Given the description of an element on the screen output the (x, y) to click on. 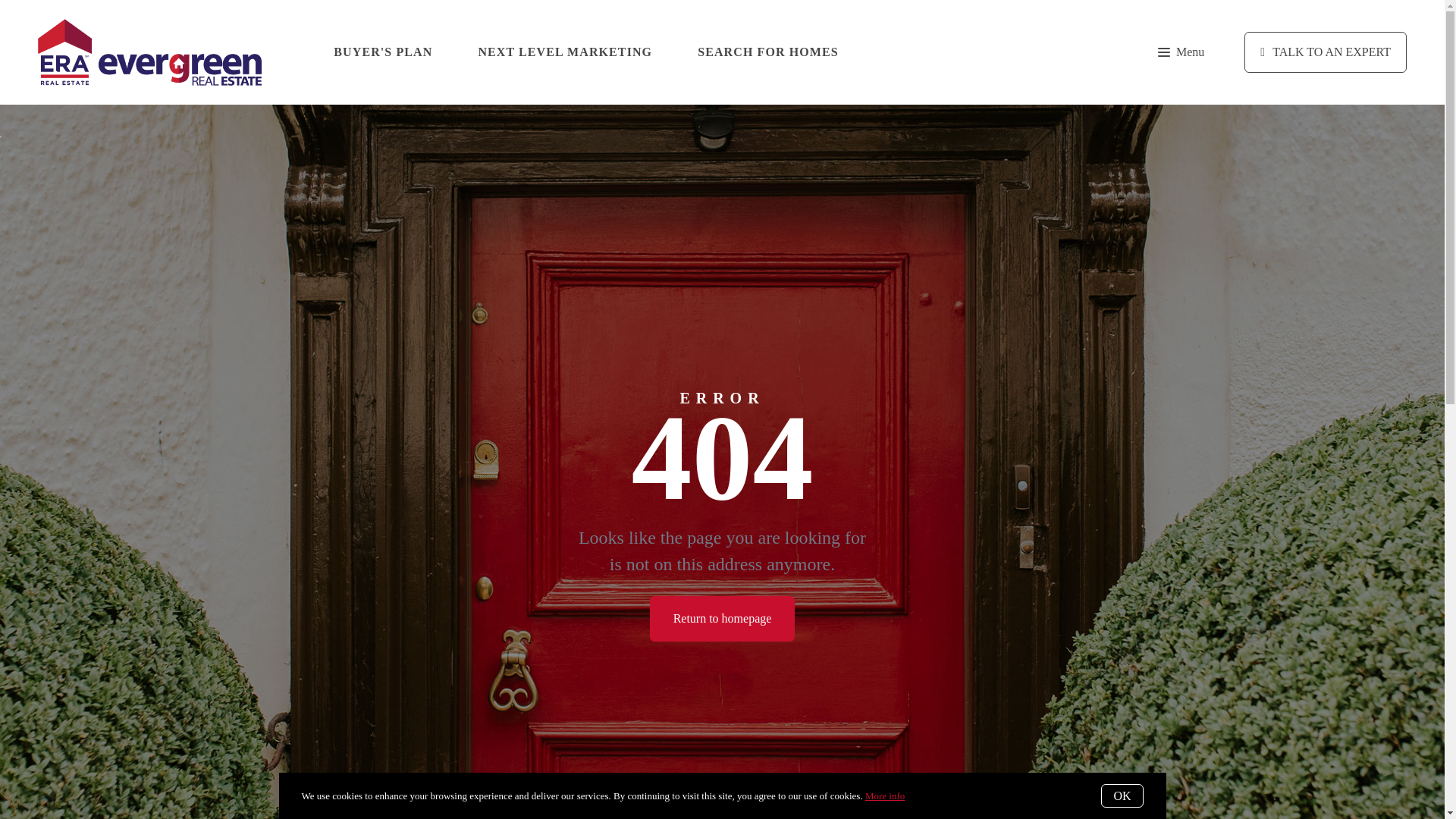
TALK TO AN EXPERT (1325, 51)
Menu (1180, 52)
BUYER'S PLAN (382, 52)
Return to homepage (721, 618)
NEXT LEVEL MARKETING (564, 52)
SEARCH FOR HOMES (767, 52)
